Given the description of an element on the screen output the (x, y) to click on. 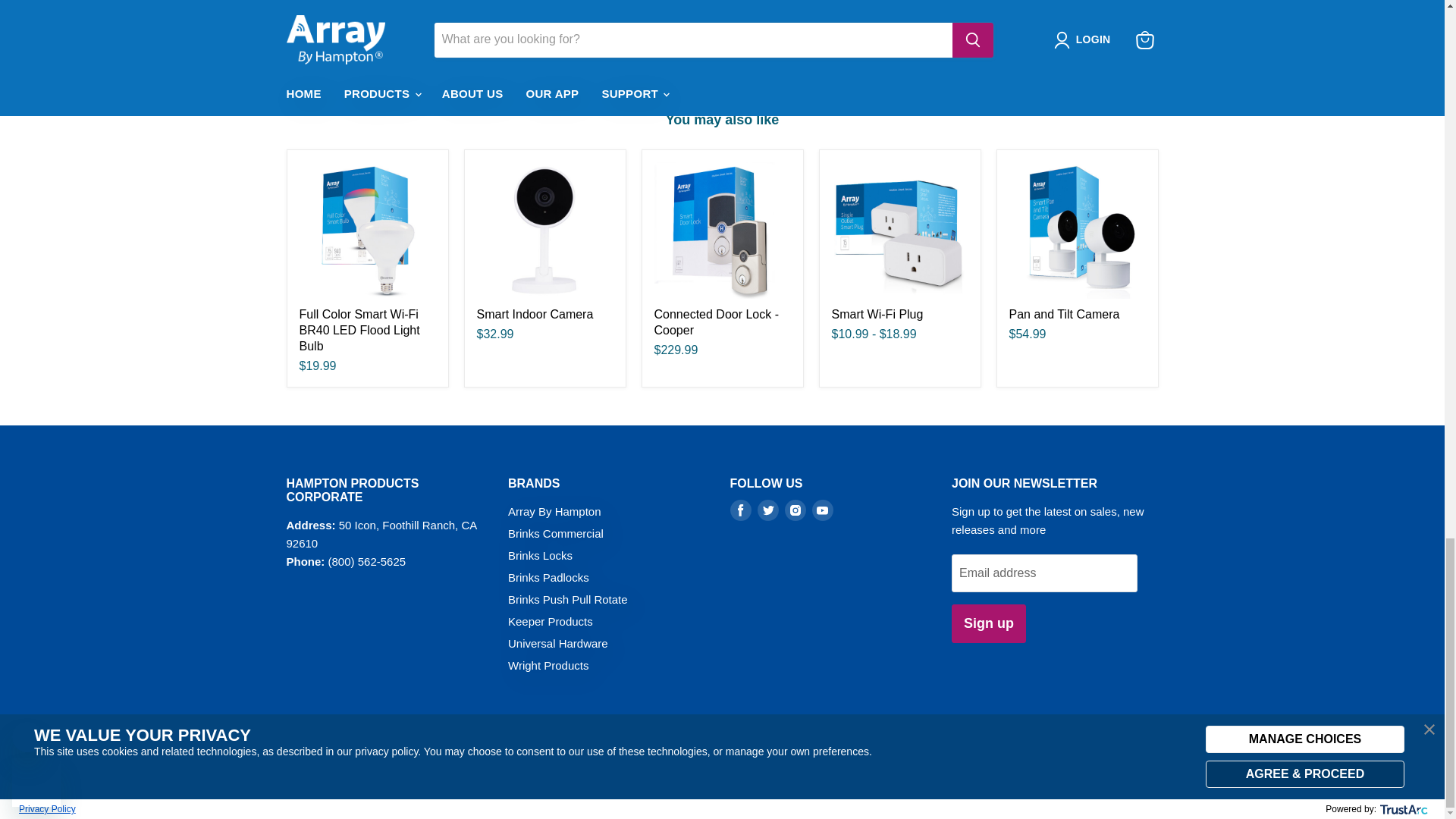
twitter (767, 509)
facebook (740, 509)
instagram (794, 509)
youtube (821, 509)
